Given the description of an element on the screen output the (x, y) to click on. 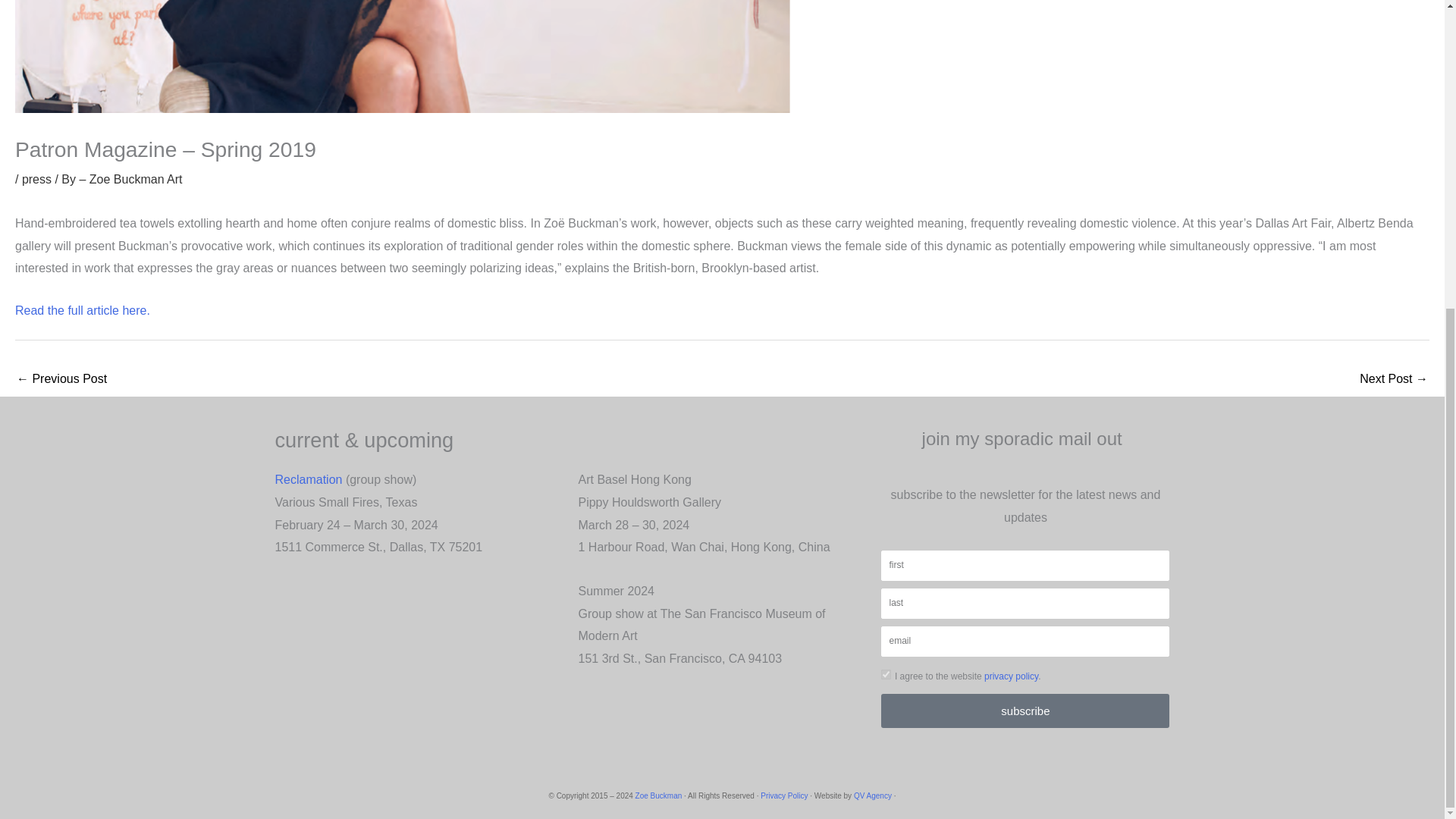
privacy policy (1011, 675)
Zoe Buckman (658, 795)
Elle - Winter 2018 (61, 379)
subscribe (1024, 710)
Page 1 (418, 535)
QV Agency (872, 795)
The New York Times - Spring 2019 (1393, 379)
Privacy Policy (784, 795)
on (885, 674)
Read the full article here. (81, 309)
press (35, 178)
Reclamation (308, 479)
